Given the description of an element on the screen output the (x, y) to click on. 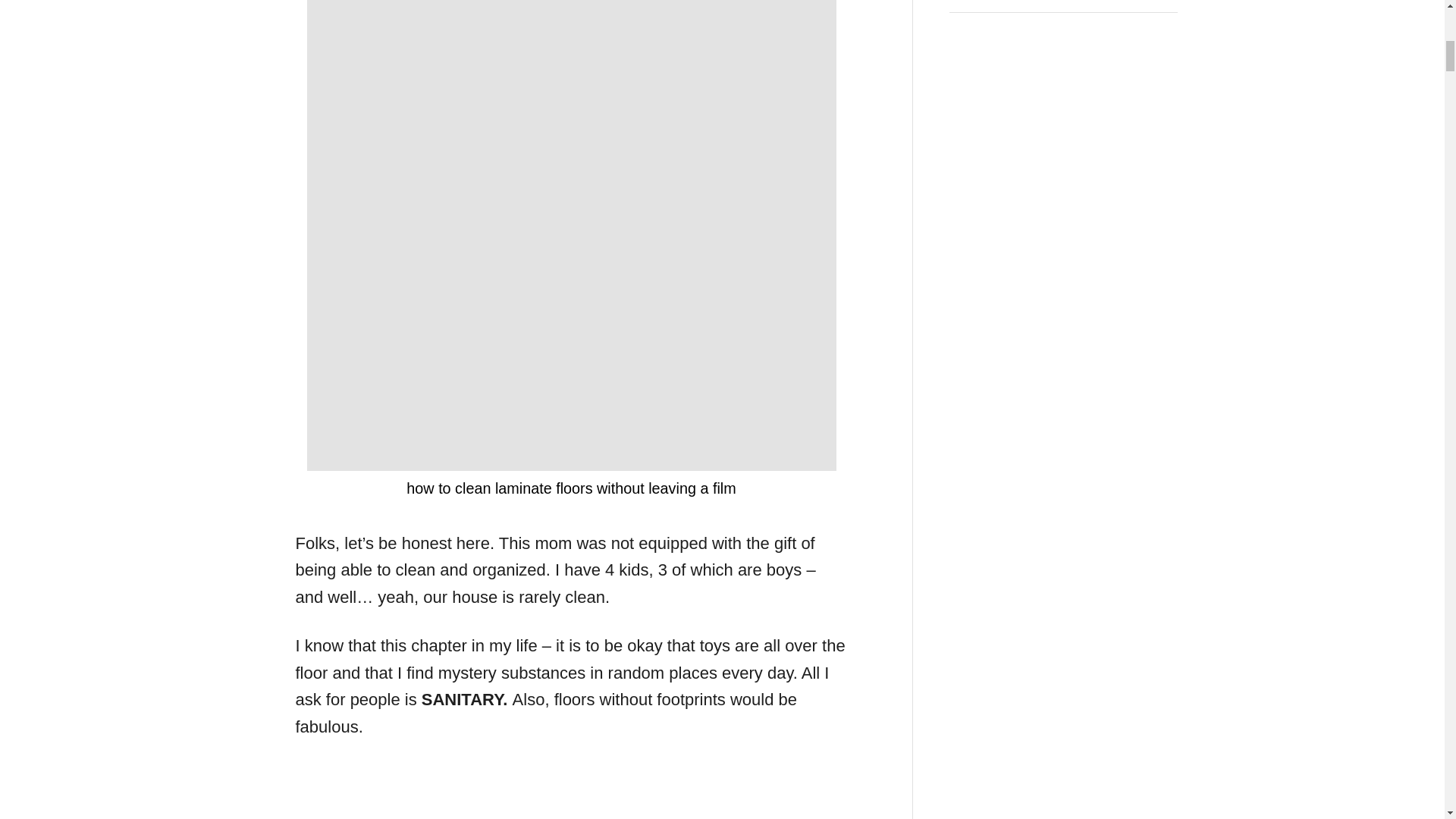
how to clean laminate floors (570, 796)
